Given the description of an element on the screen output the (x, y) to click on. 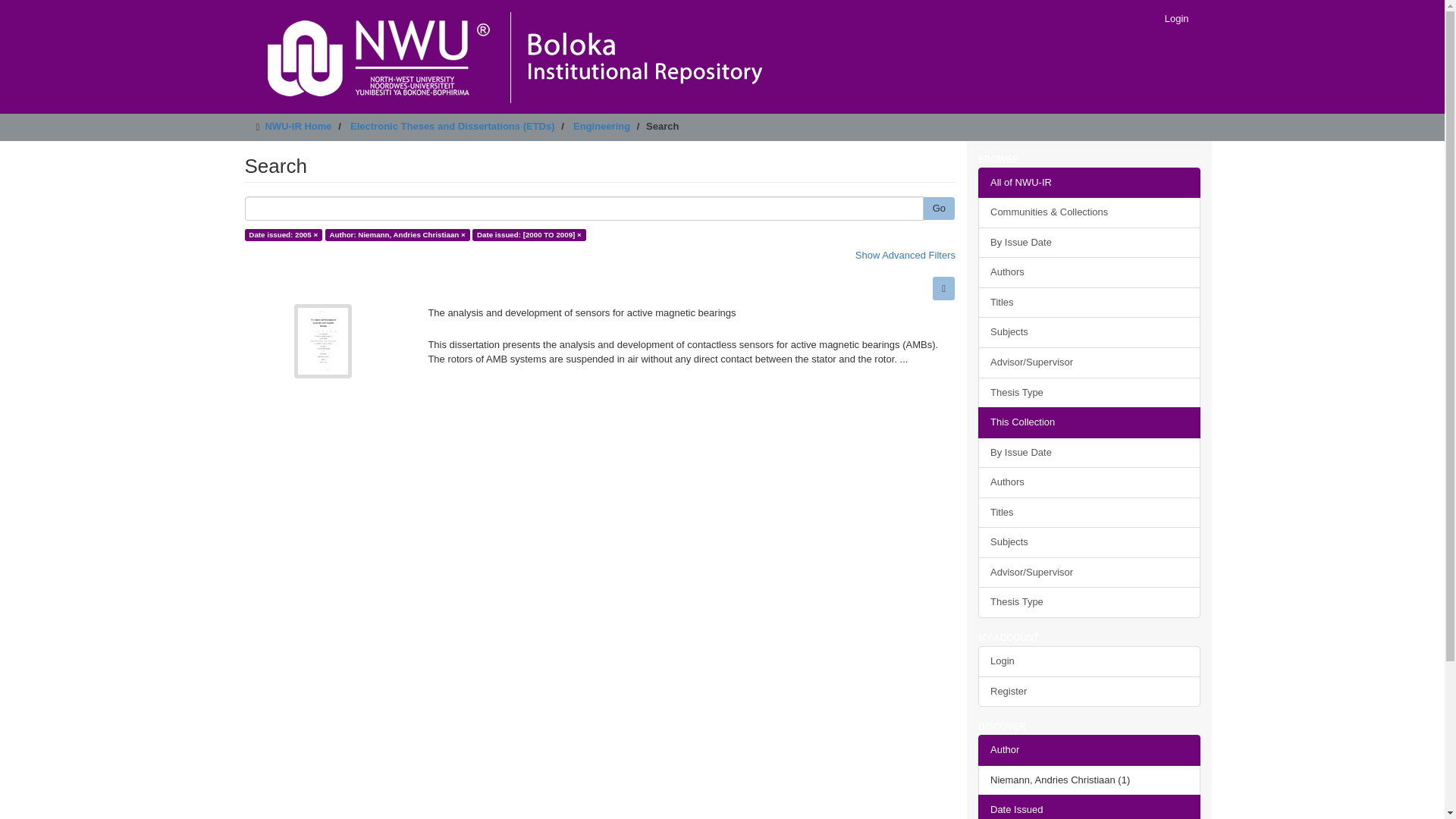
NWU-IR Home (297, 125)
Login (1176, 18)
Show Advanced Filters (905, 255)
Go (939, 208)
Engineering (601, 125)
